Given the description of an element on the screen output the (x, y) to click on. 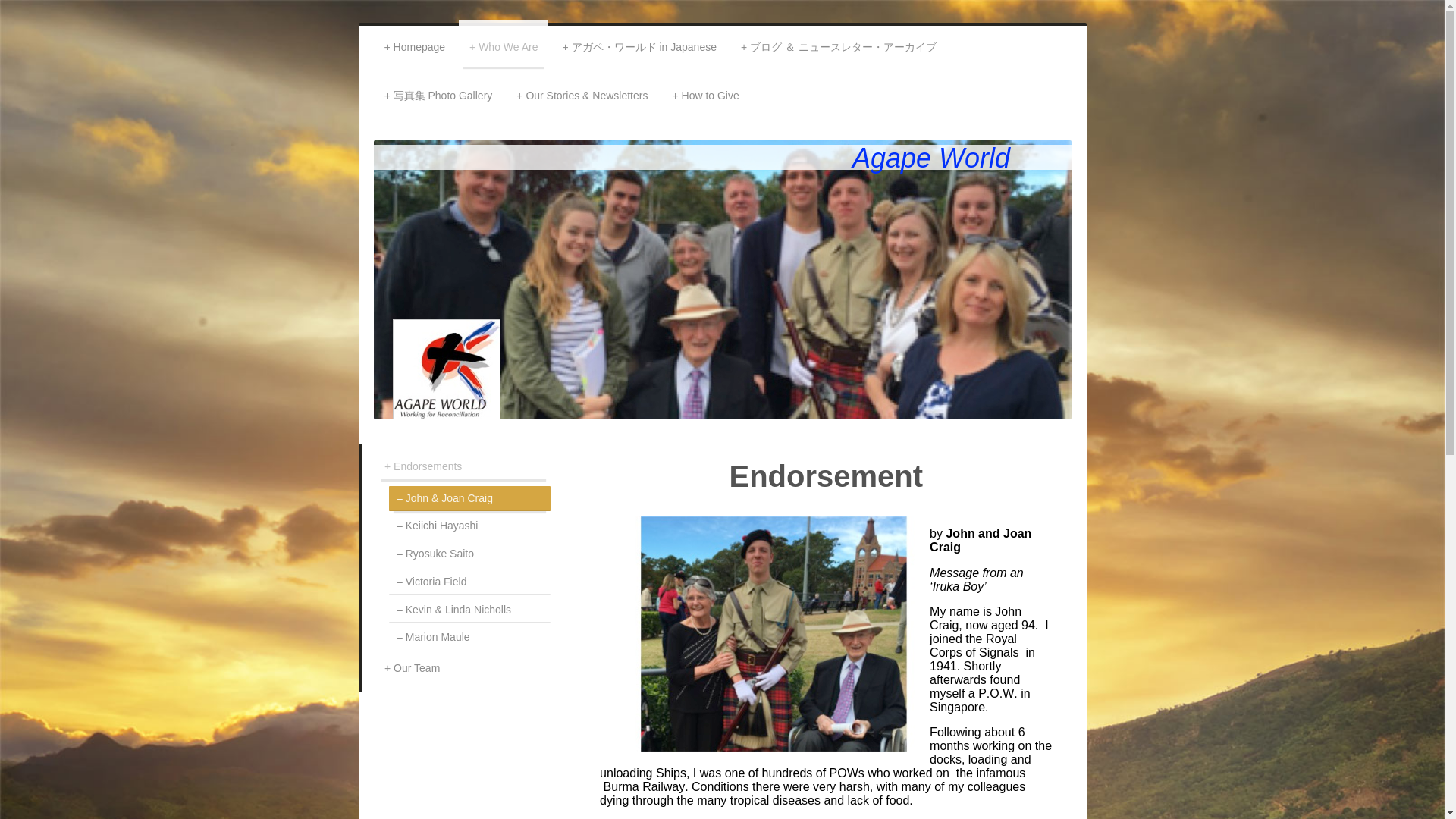
Agape World (930, 157)
